Given the description of an element on the screen output the (x, y) to click on. 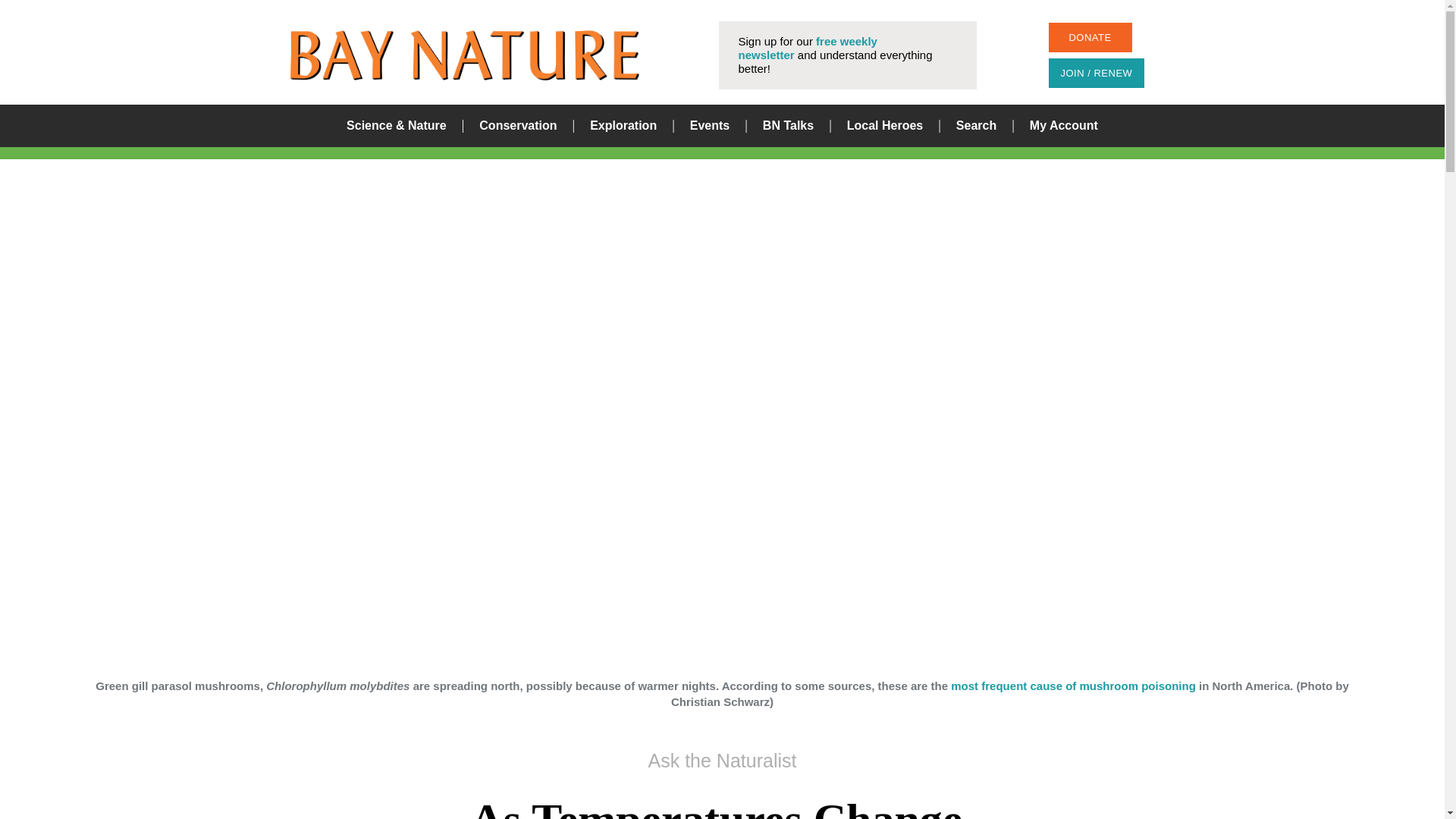
Search (975, 125)
Local Heroes (885, 125)
My Account (1063, 125)
Bay Nature (464, 54)
Search (879, 409)
BN Talks (787, 125)
free weekly newsletter (807, 48)
Conservation (517, 125)
most frequent cause of mushroom poisoning (1072, 685)
Exploration (622, 125)
